Given the description of an element on the screen output the (x, y) to click on. 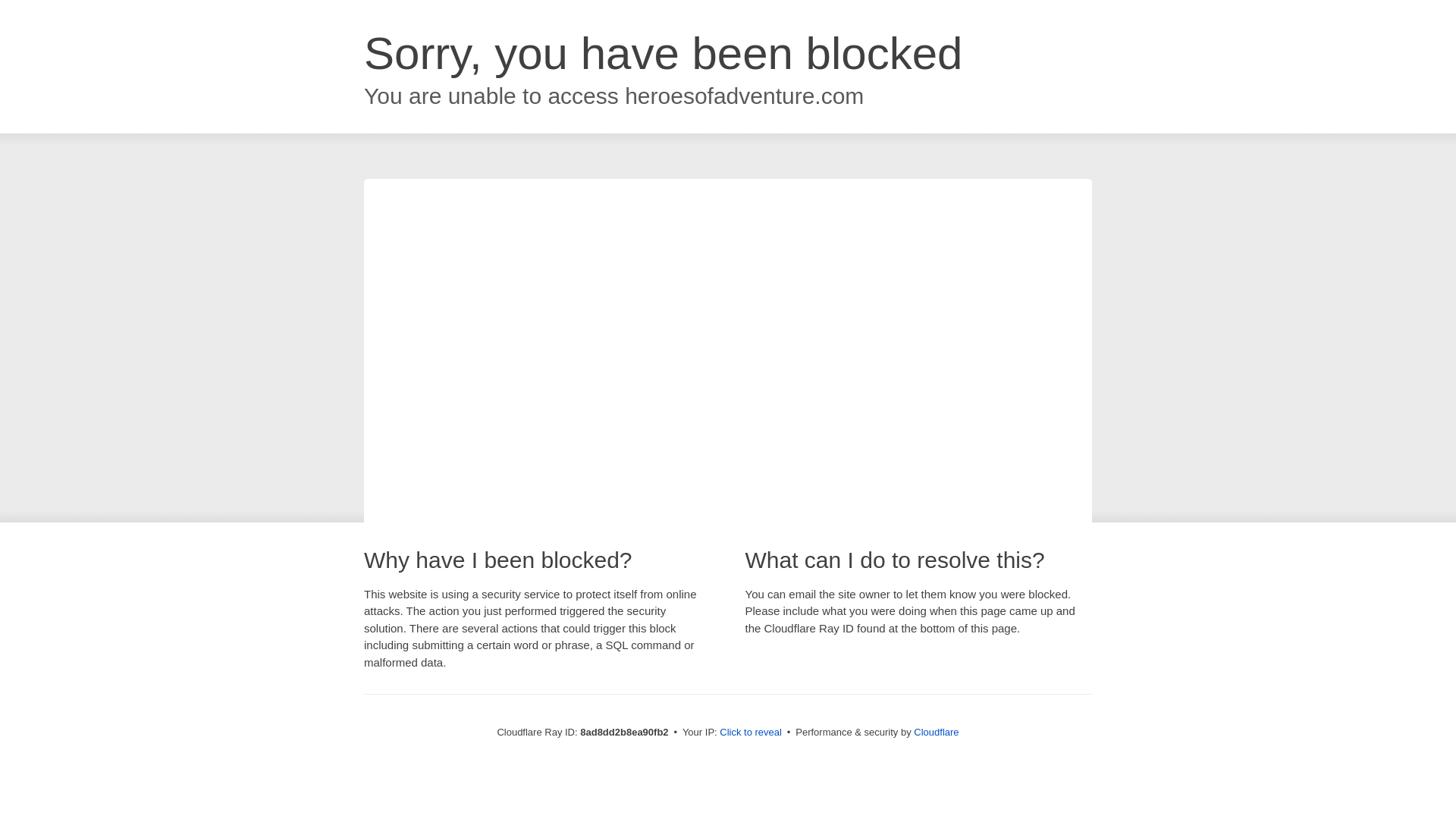
Cloudflare (936, 731)
Click to reveal (750, 732)
